Given the description of an element on the screen output the (x, y) to click on. 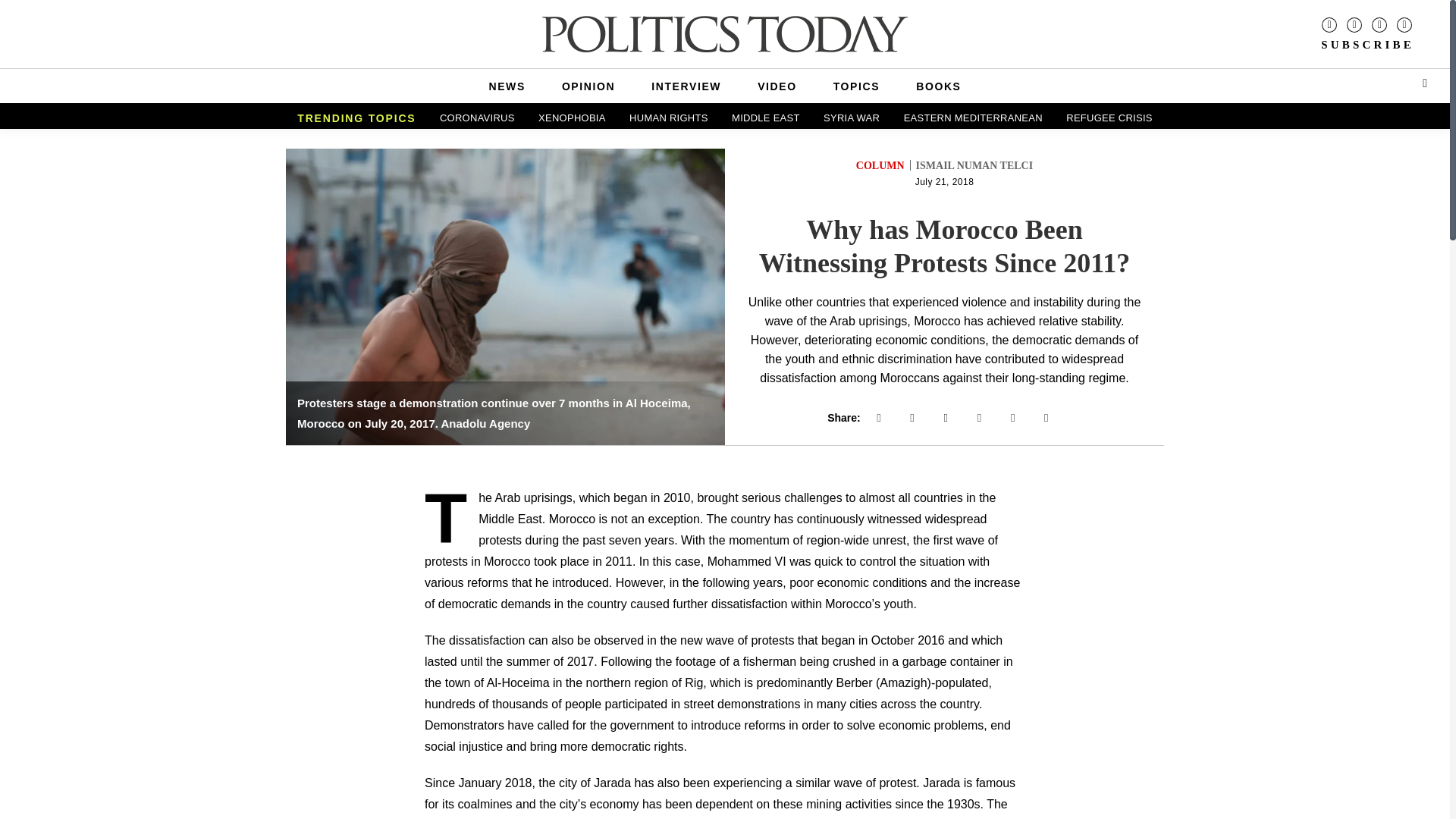
EASTERN MEDITERRANEAN (973, 118)
CORONAVIRUS (477, 118)
HUMAN RIGHTS (668, 118)
Instagram page opens in new window (1353, 23)
BOOKS (938, 85)
YouTube page opens in new window (1404, 23)
REFUGEE CRISIS (1108, 118)
Go! (24, 12)
Instagram page opens in new window (1353, 23)
MIDDLE EAST (765, 118)
